Given the description of an element on the screen output the (x, y) to click on. 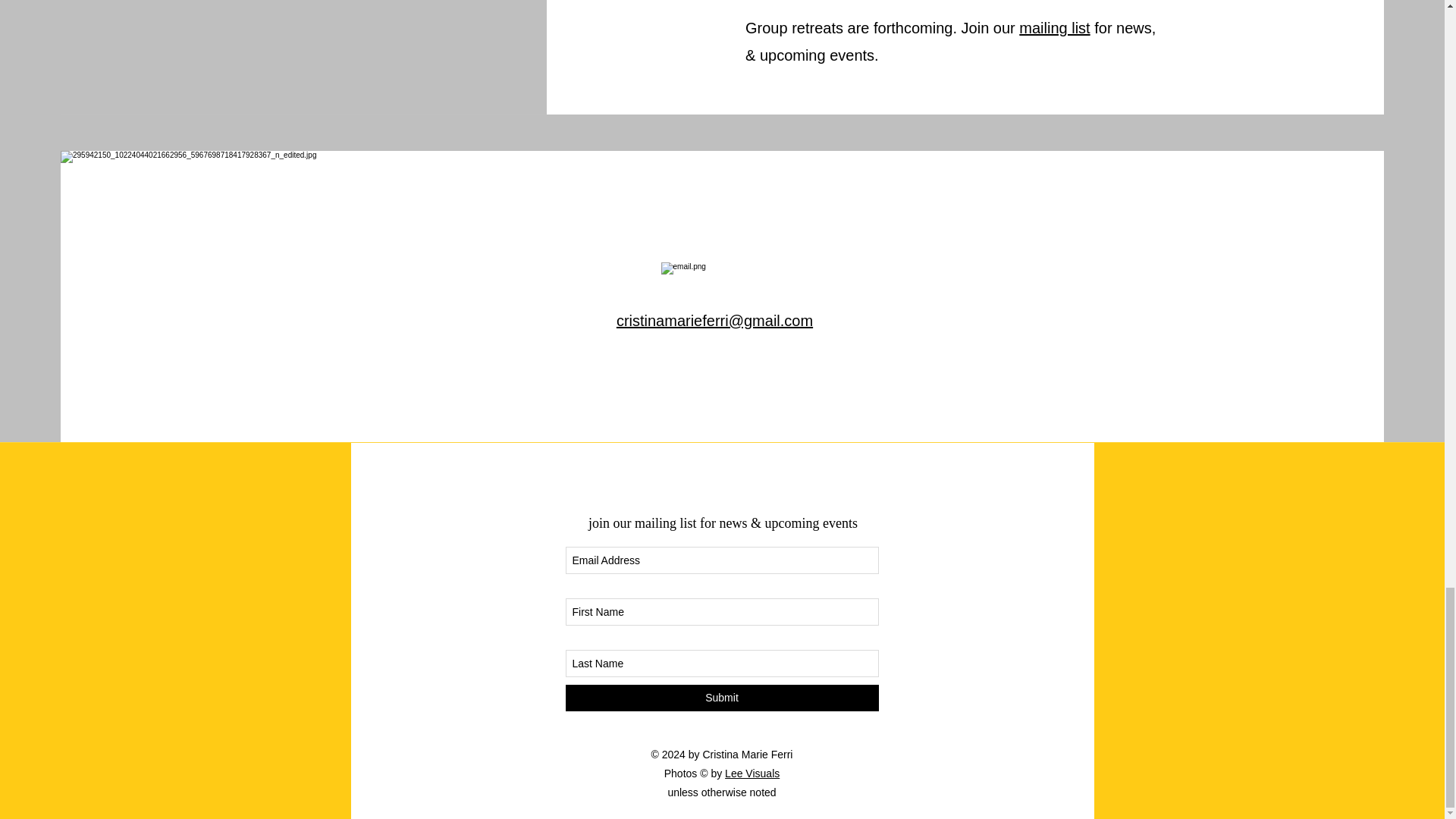
unless otherwise noted (721, 792)
mailing list (1054, 27)
Submit (722, 697)
Lee Visuals (751, 773)
